Given the description of an element on the screen output the (x, y) to click on. 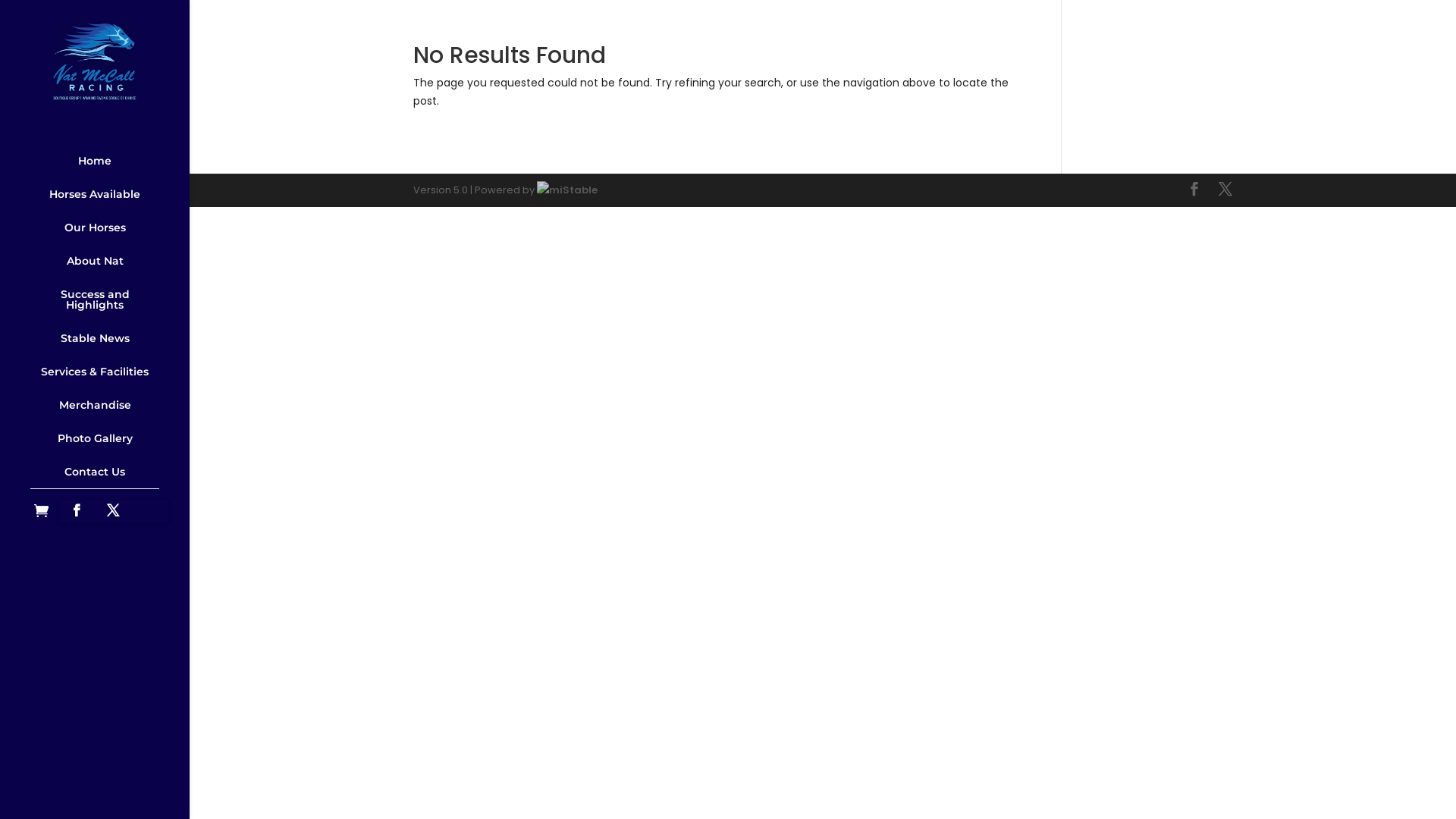
Our Horses Element type: text (94, 227)
About Nat Element type: text (94, 260)
Social Element type: text (94, 493)
Twitter Element type: text (112, 510)
Success and Highlights Element type: text (94, 299)
Stable News Element type: text (94, 337)
Services & Facilities Element type: text (94, 371)
Merchandise Element type: text (94, 404)
Home Element type: text (94, 160)
Horses Available Element type: text (94, 193)
Photo Gallery Element type: text (94, 438)
Facebook Element type: text (76, 510)
Contact Us Element type: text (94, 471)
Horse Management Software Element type: hover (566, 189)
